Given the description of an element on the screen output the (x, y) to click on. 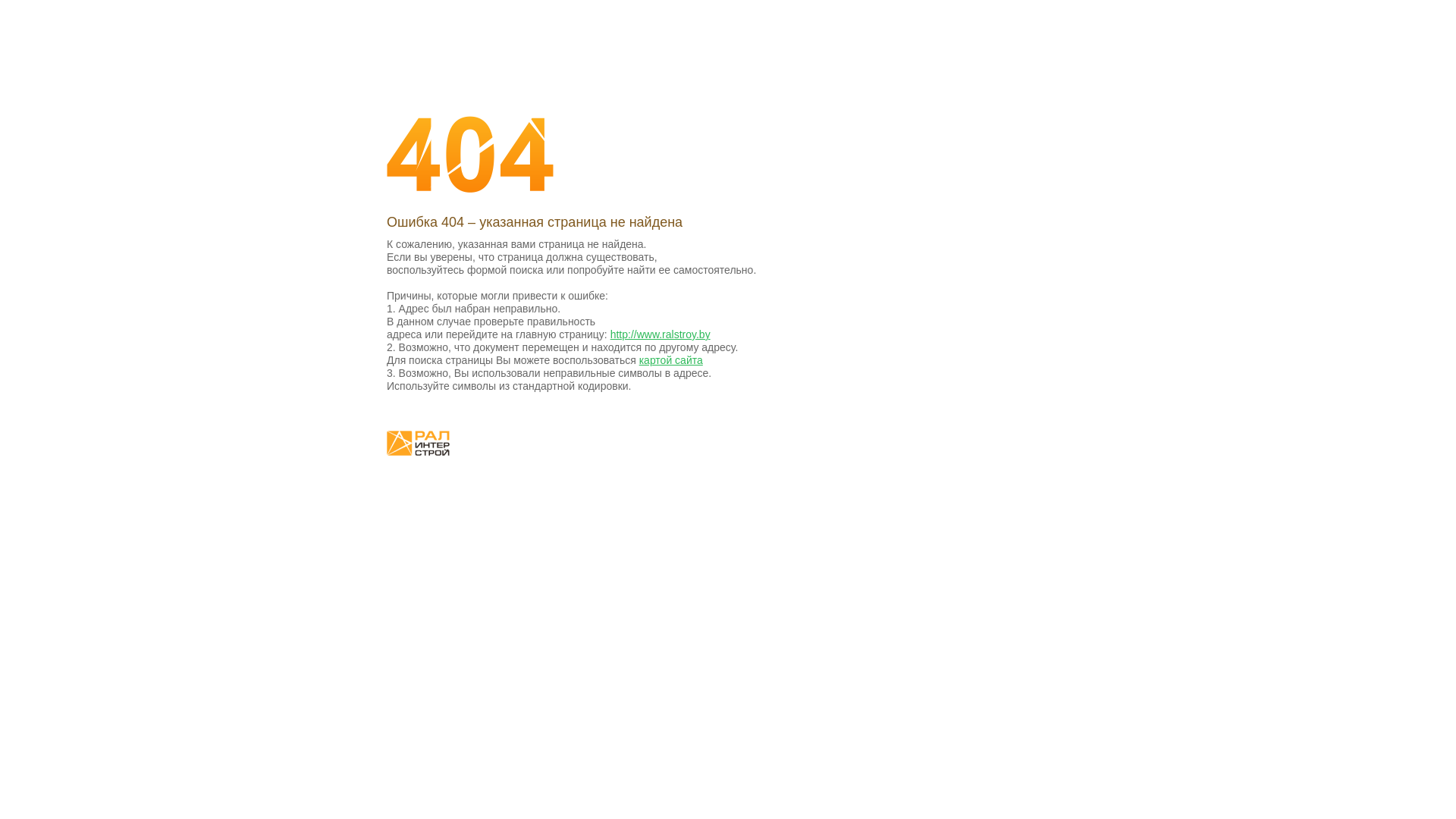
http://www.ralstroy.by Element type: text (660, 334)
